Given the description of an element on the screen output the (x, y) to click on. 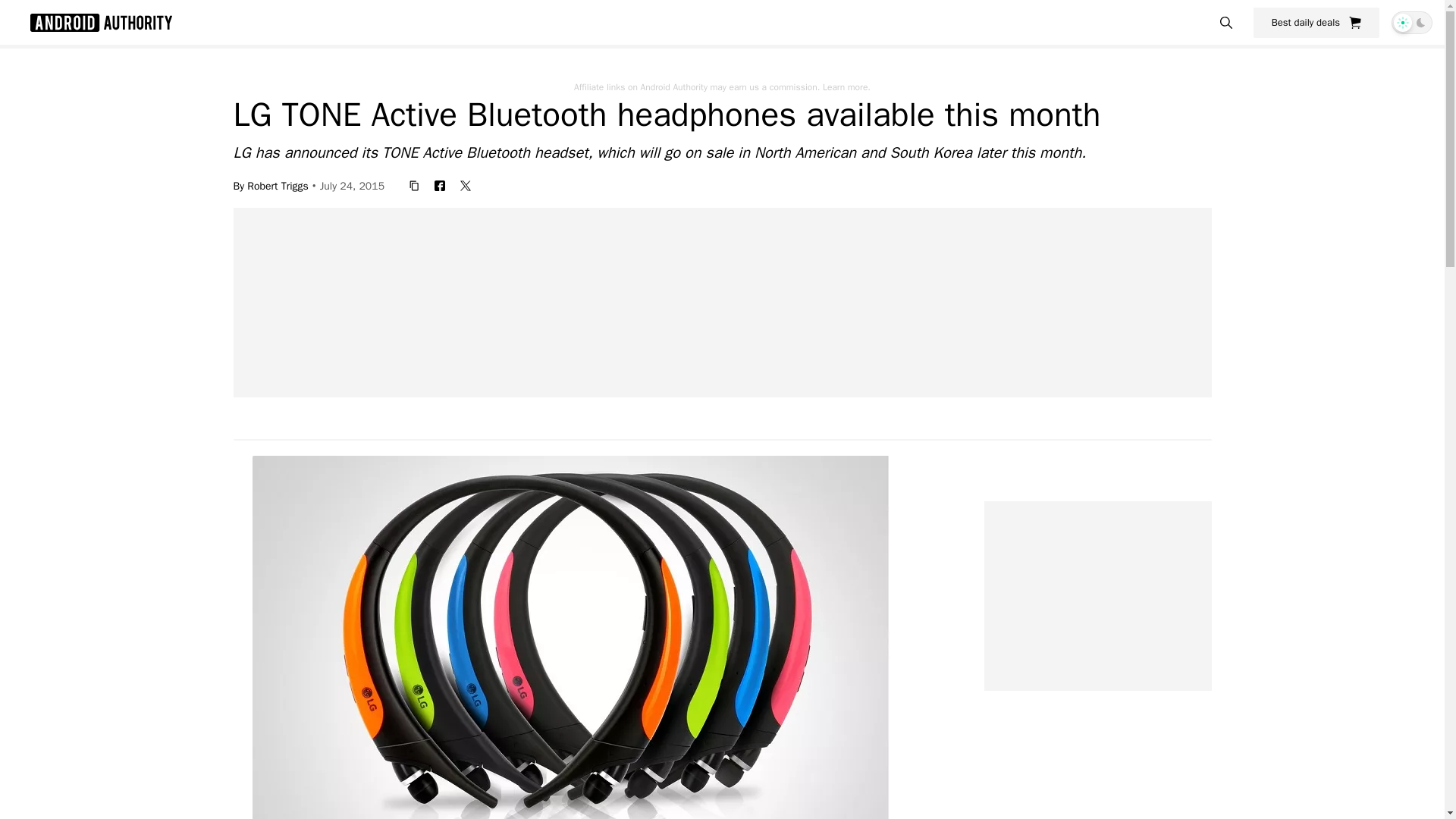
twitter (465, 185)
Robert Triggs (277, 185)
Learn more. (846, 86)
facebook (439, 185)
Best daily deals (1315, 22)
